Given the description of an element on the screen output the (x, y) to click on. 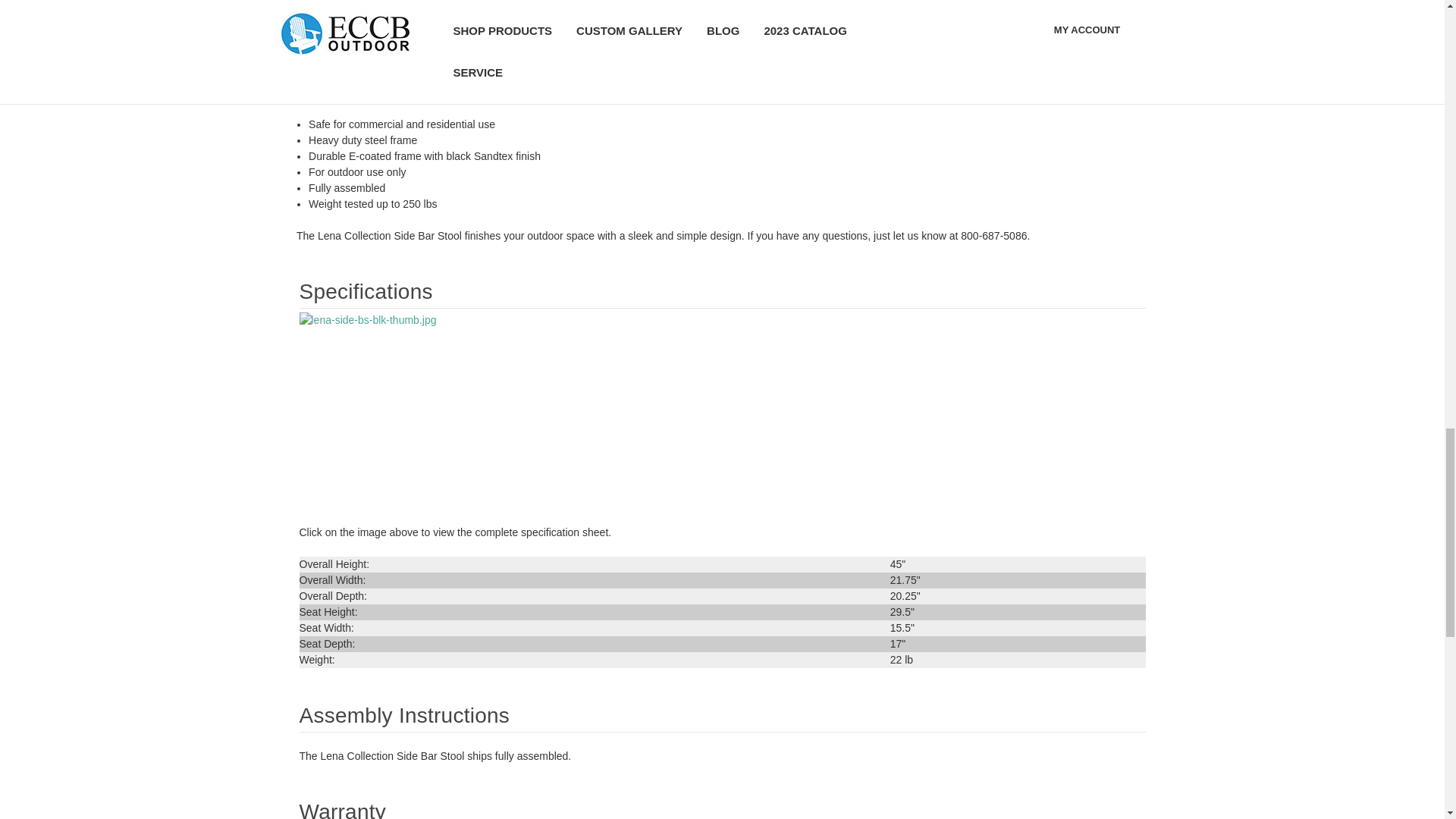
lena-side-bs-blk-thumb.jpg (373, 410)
